Given the description of an element on the screen output the (x, y) to click on. 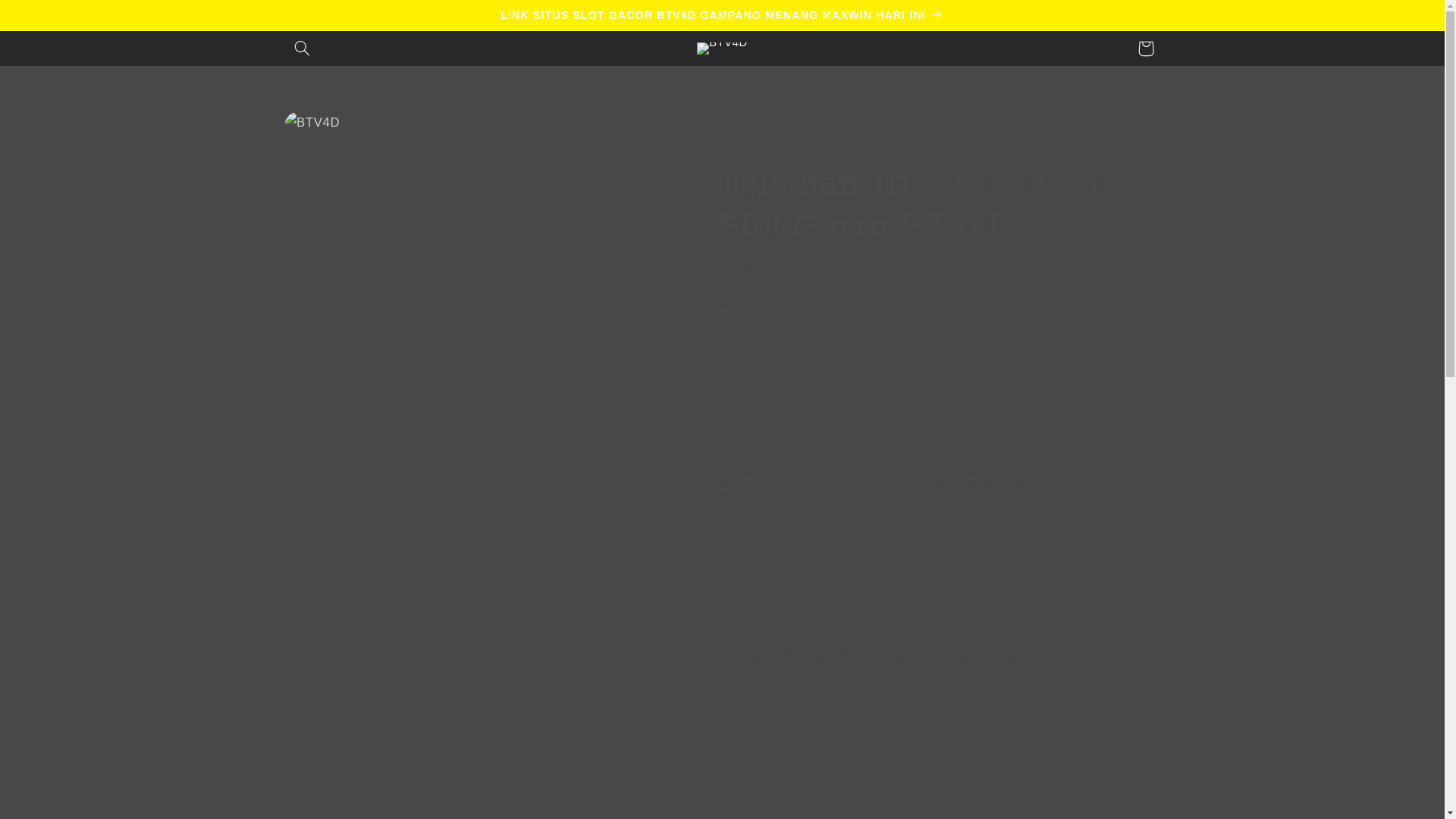
Cart (1145, 48)
BTV4D (973, 443)
Open media 1 in modal (480, 259)
LINK SITUS SLOT GACOR BTV4D GAMPANG MENANG MAXWIN HARI INI (721, 15)
Skip to product information (331, 129)
BTV4D (745, 315)
Situs Gacor BTV4D (777, 696)
Skip to content (48, 18)
Slot Gacor BTV4D (922, 353)
